Given the description of an element on the screen output the (x, y) to click on. 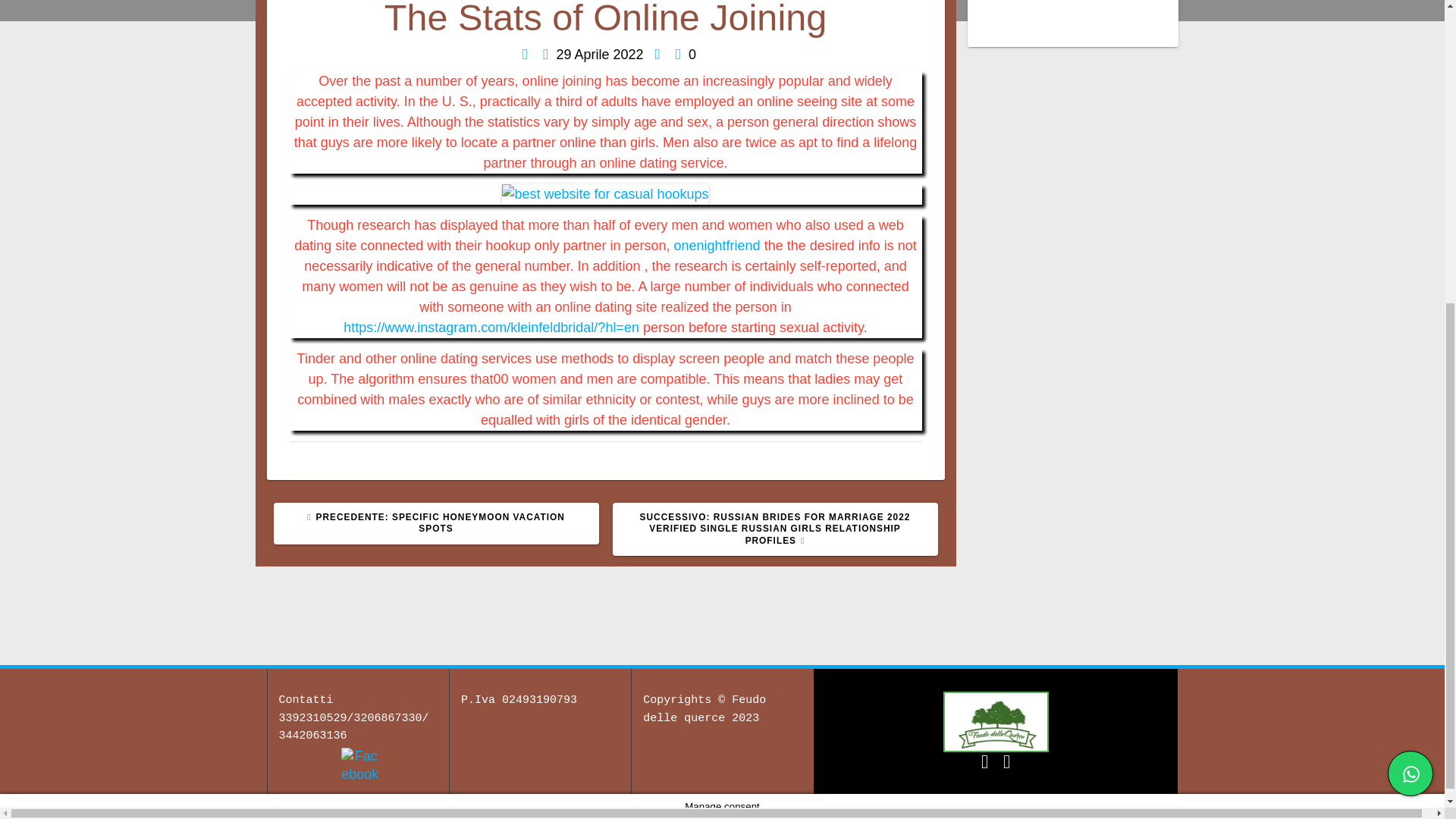
onenightfriend (717, 245)
Facebook (359, 764)
